Given the description of an element on the screen output the (x, y) to click on. 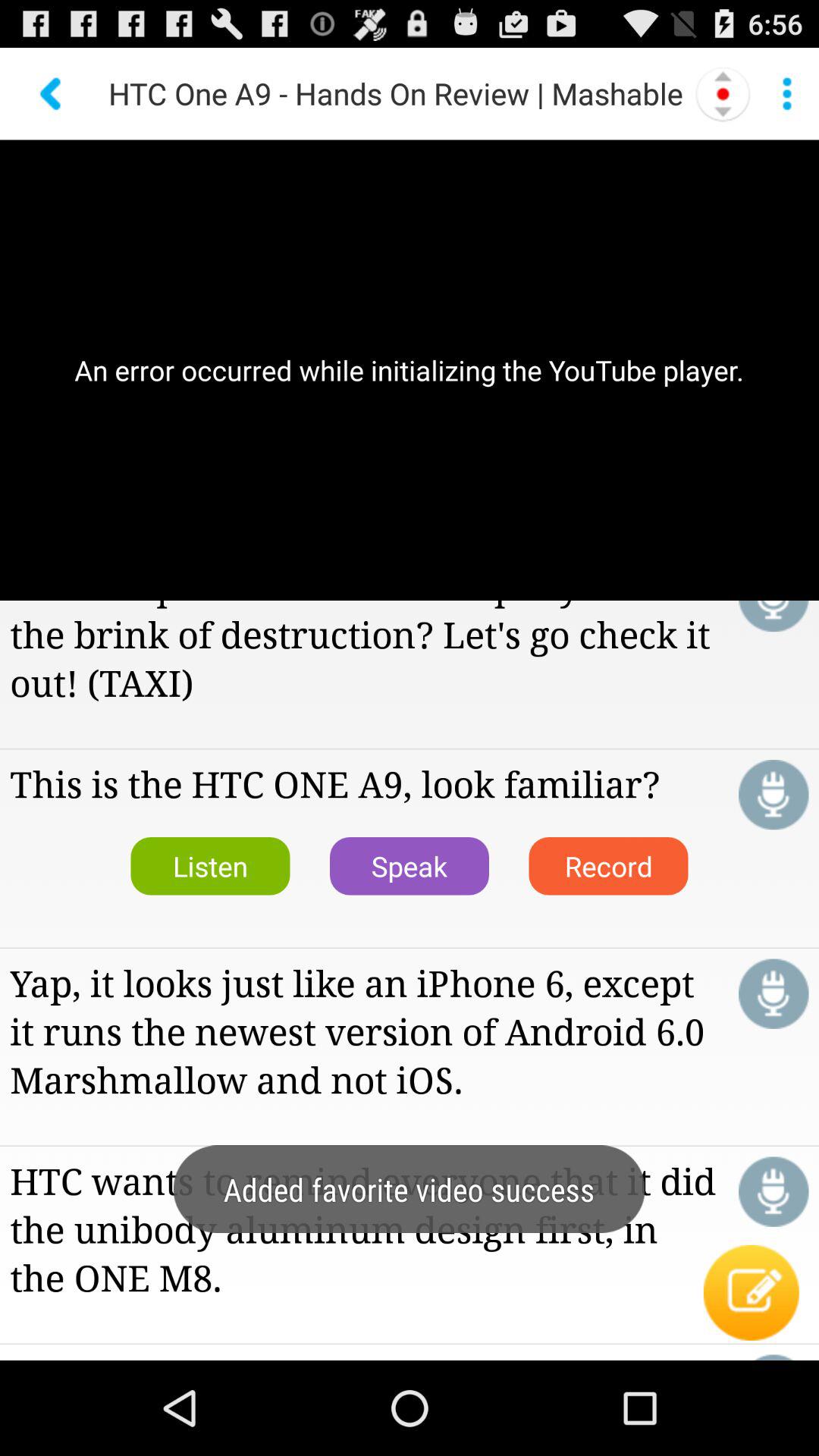
voice recorder (773, 794)
